Given the description of an element on the screen output the (x, y) to click on. 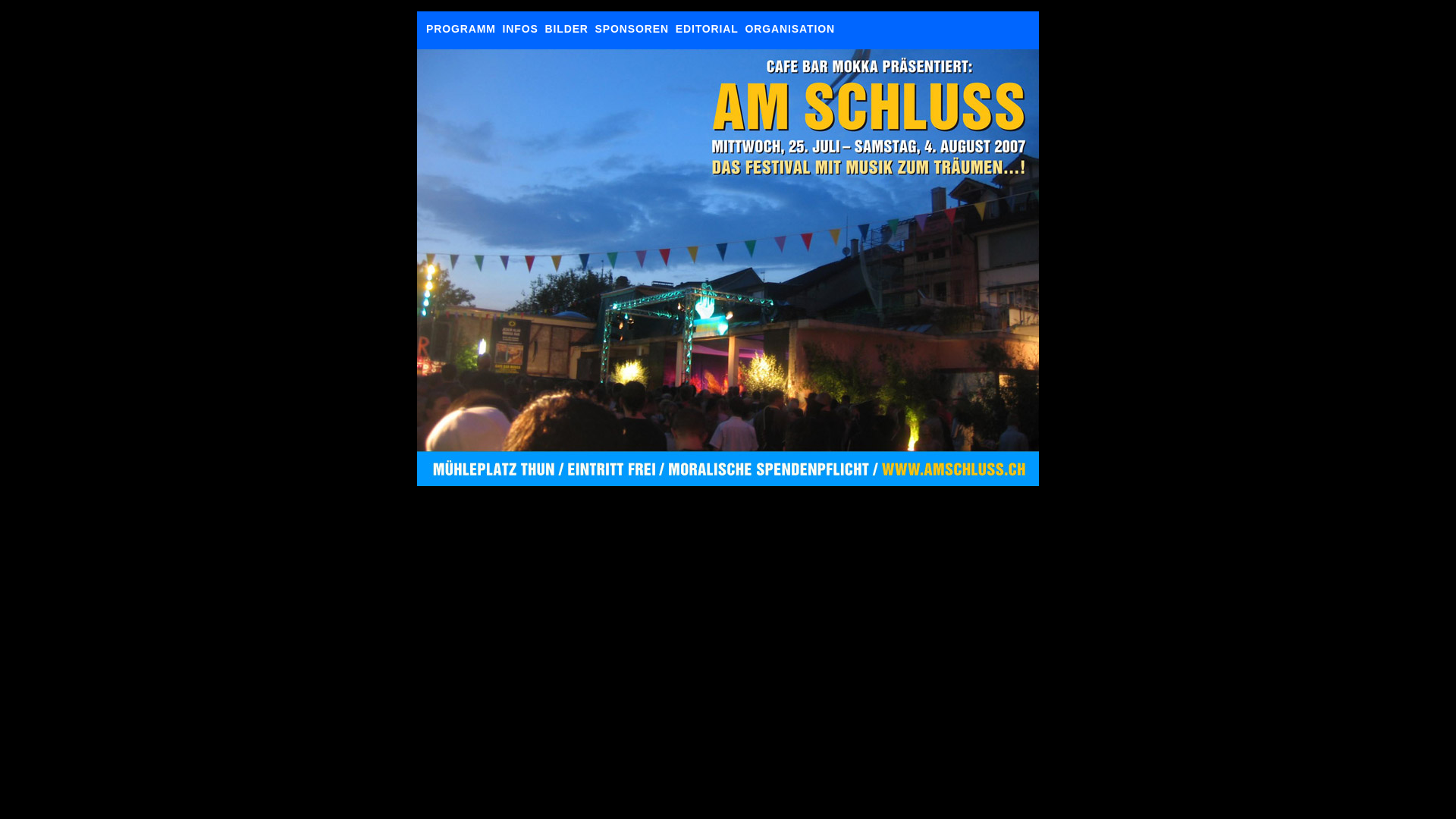
PROGRAMM Element type: text (460, 28)
EDITORIAL Element type: text (706, 28)
ORGANISATION Element type: text (789, 28)
SPONSOREN Element type: text (631, 28)
BILDER Element type: text (565, 28)
INFOS Element type: text (520, 28)
